Given the description of an element on the screen output the (x, y) to click on. 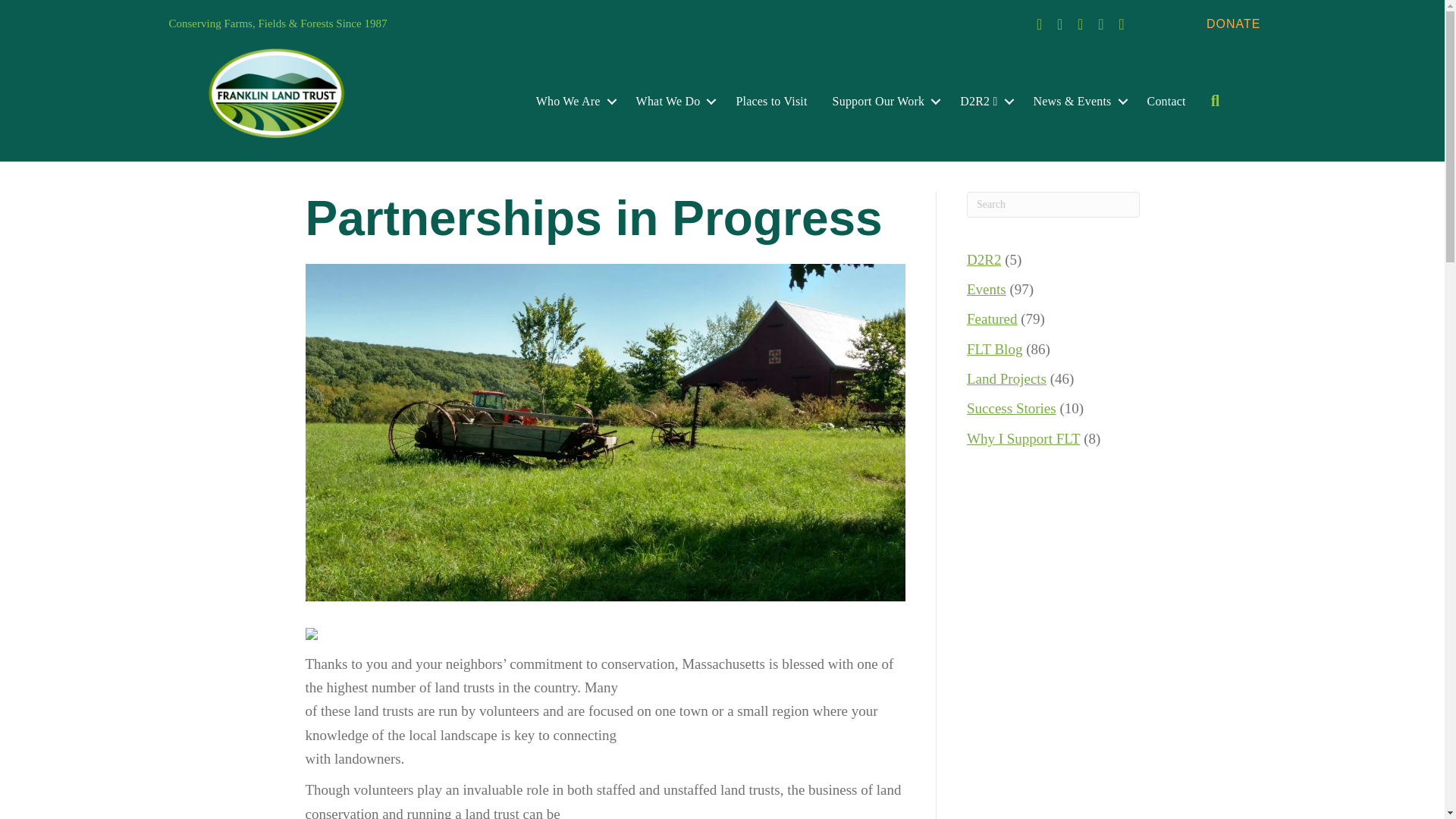
Places to Visit (770, 101)
Support Our Work (884, 101)
DONATE (1233, 23)
Who We Are (573, 101)
Type and press Enter to search. (1053, 204)
What We Do (673, 101)
D2R2 (983, 101)
